Given the description of an element on the screen output the (x, y) to click on. 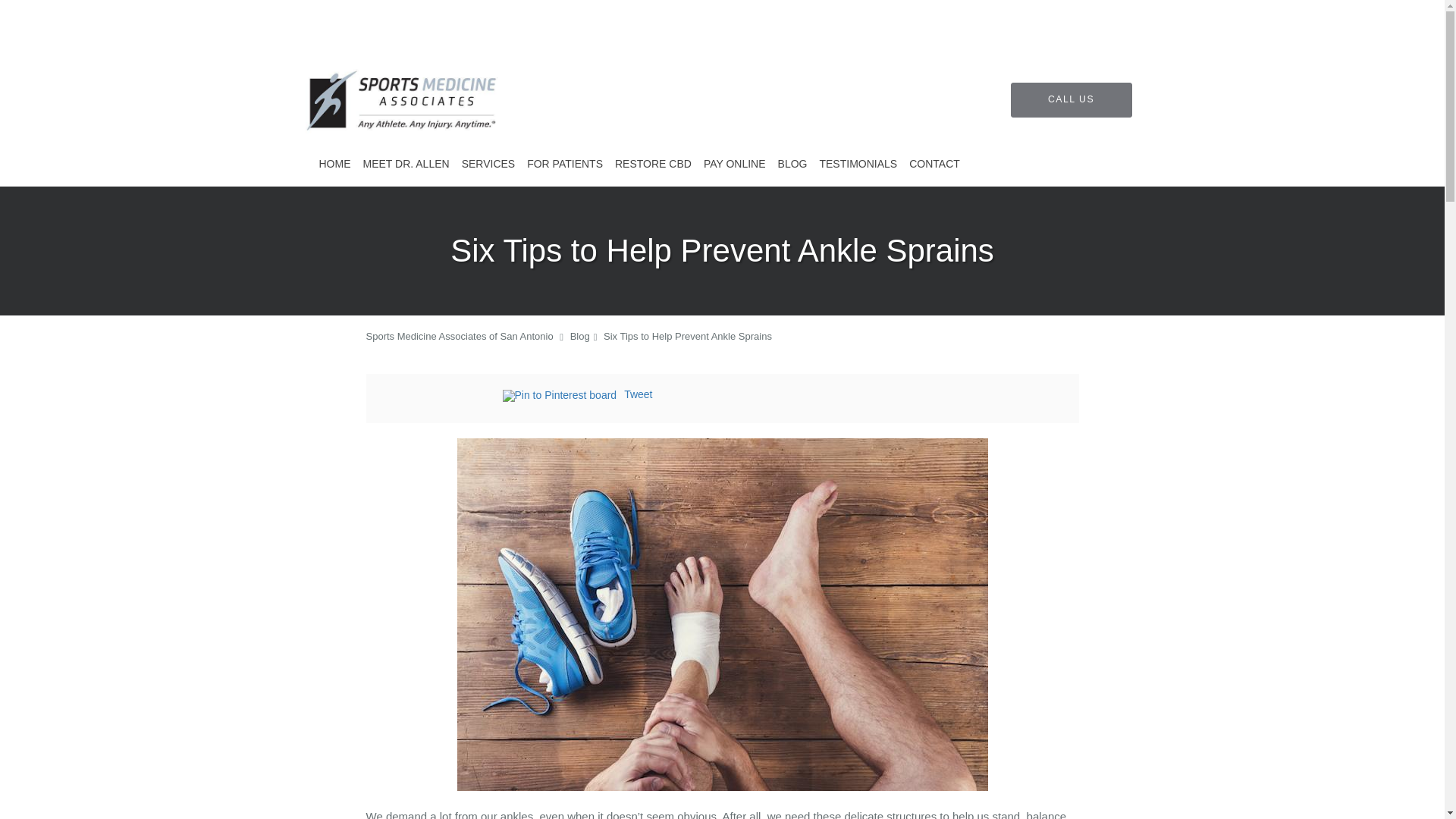
TESTIMONIALS (857, 163)
Facebook social button (441, 396)
FOR PATIENTS (564, 163)
Blog (579, 336)
Sports Medicine Associates of San Antonio (459, 336)
SERVICES (488, 163)
CALL US (1070, 99)
Tweet (638, 394)
HOME (334, 163)
BLOG (792, 163)
